Given the description of an element on the screen output the (x, y) to click on. 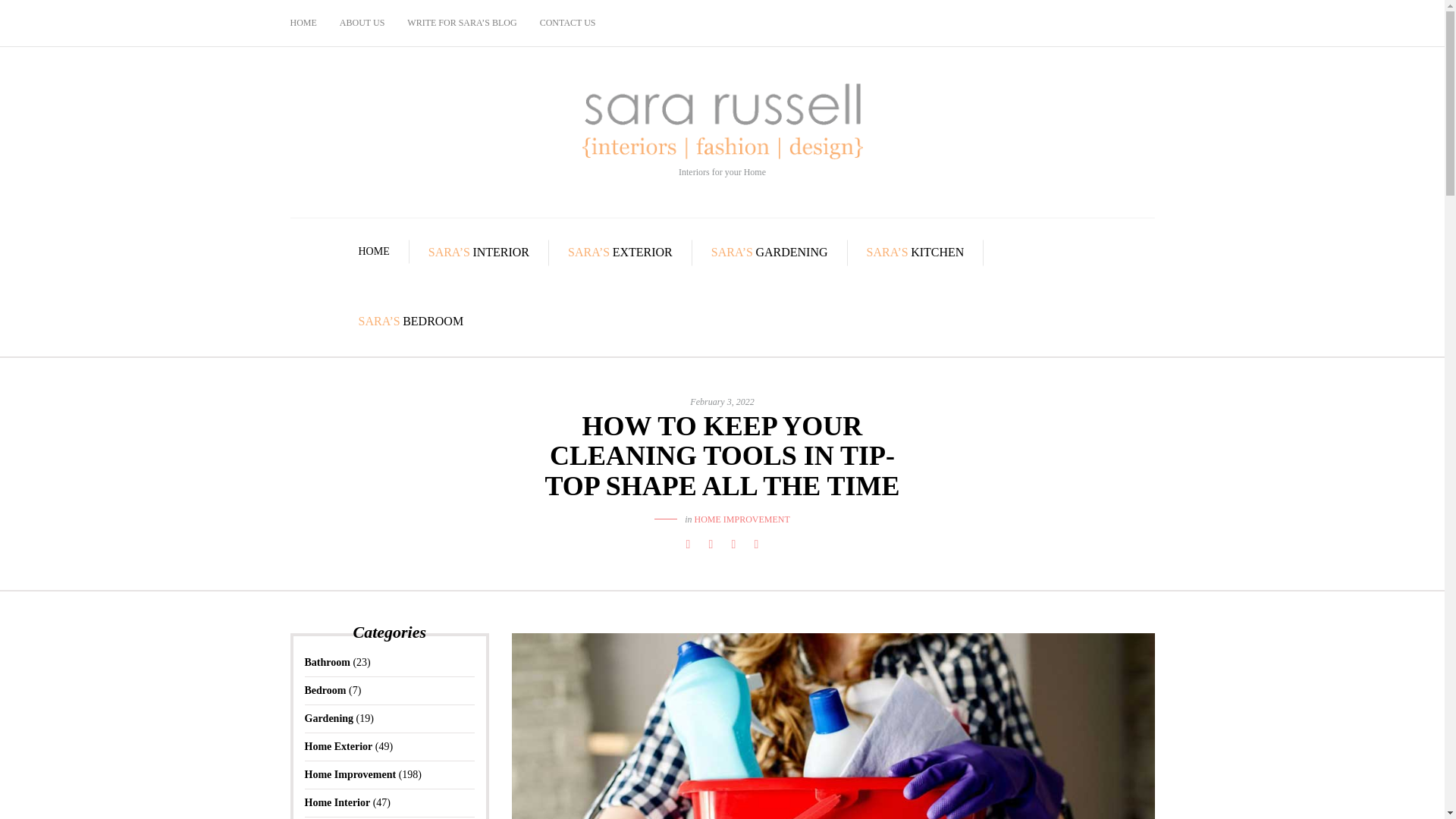
Gardening (328, 717)
Home Interior (337, 802)
HOME (374, 251)
Tweet this (710, 544)
Home Exterior (338, 746)
ABOUT US (362, 22)
Home Improvement (350, 774)
Bedroom (325, 690)
Share with Google Plus (733, 544)
HOME IMPROVEMENT (742, 519)
Pin this (755, 544)
Bathroom (327, 662)
Share this (687, 544)
CONTACT US (567, 22)
